Given the description of an element on the screen output the (x, y) to click on. 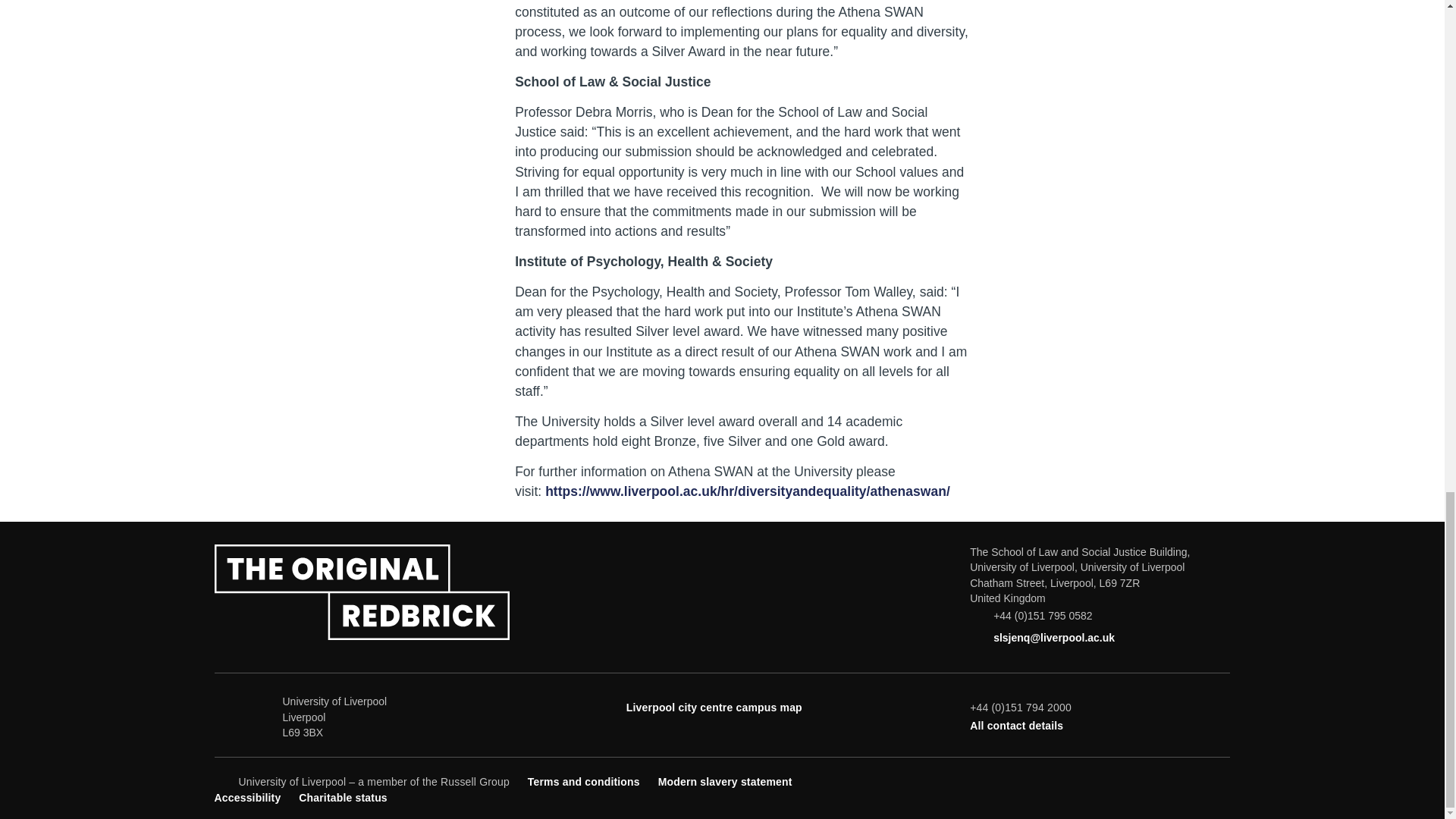
twitter (1146, 779)
Terms and Conditions (583, 781)
Maps (714, 707)
youtube (1170, 779)
instagram (1196, 779)
Modern slavery statement (725, 781)
linkedin (1220, 779)
facebook (1121, 779)
Contact us (1015, 725)
